Given the description of an element on the screen output the (x, y) to click on. 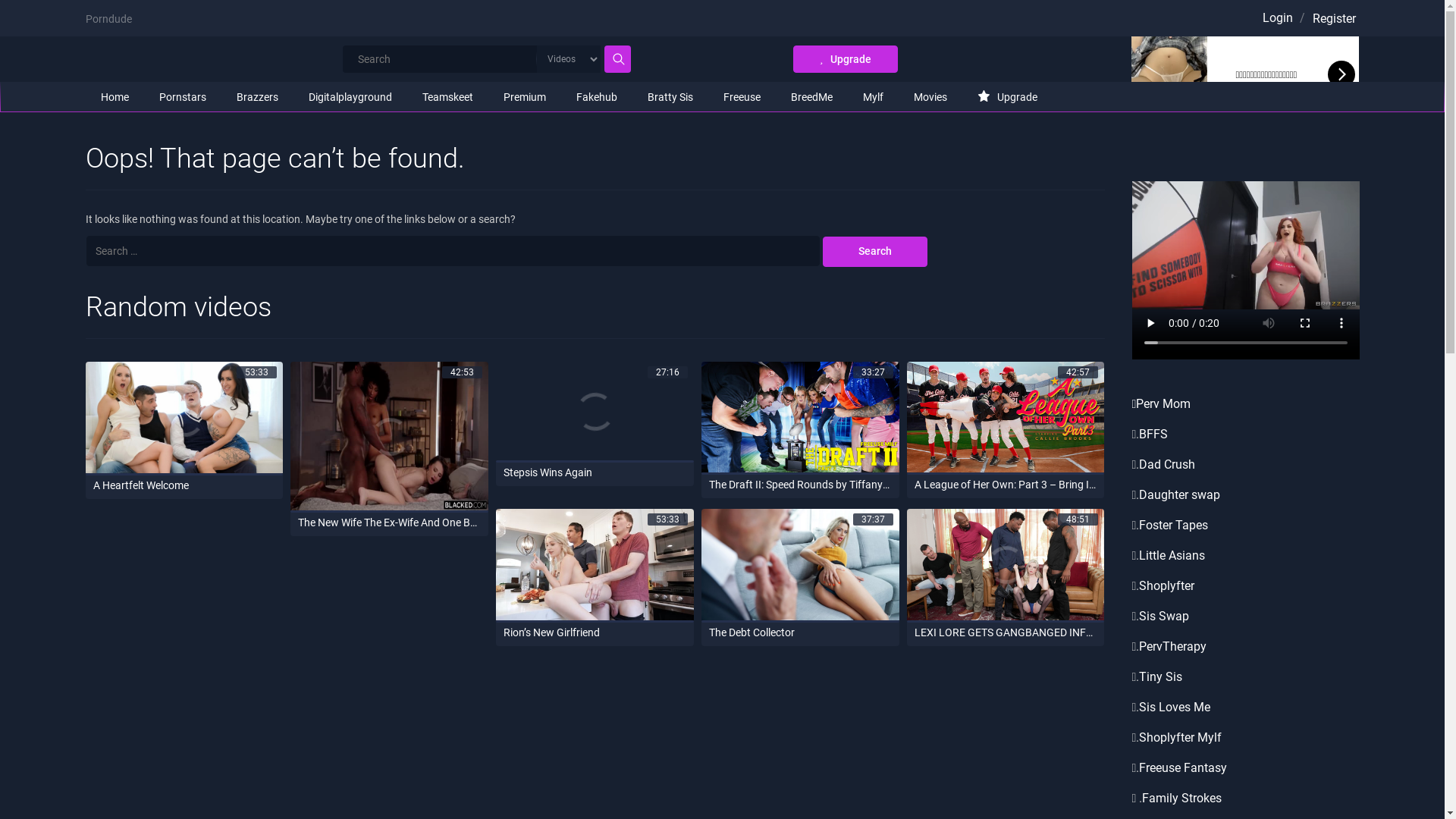
37:37 Element type: text (800, 565)
PervTherapy Element type: text (1172, 646)
Login Element type: text (1276, 18)
Pornstars Element type: text (182, 96)
Brazzers Element type: text (257, 96)
27:16 Element type: text (594, 411)
Tiny Sis Element type: text (1160, 676)
Freeuse Element type: text (741, 96)
Premium Element type: text (524, 96)
Family Strokes Element type: text (1181, 797)
33:27 Element type: text (800, 418)
Digitalplayground Element type: text (349, 96)
Foster Tapes Element type: text (1173, 524)
Perv Mom  Element type: text (1164, 403)
Sis Loves Me Element type: text (1174, 706)
Search Element type: text (874, 251)
48:51 Element type: text (1005, 565)
Mylf Element type: text (872, 96)
53:33 Element type: text (594, 565)
Upgrade Element type: text (845, 58)
Freeuse Fantasy Element type: text (1182, 767)
Shoplyfter Mylf Element type: text (1180, 737)
Upgrade Element type: text (1006, 96)
BFFS Element type: text (1153, 433)
42:53 Element type: text (389, 436)
Bratty Sis Element type: text (670, 96)
Daughter swap Element type: text (1179, 494)
Movies Element type: text (929, 96)
Fakehub Element type: text (596, 96)
Teamskeet Element type: text (446, 96)
53:33 Element type: text (183, 418)
42:57 Element type: text (1005, 418)
BreedMe Element type: text (811, 96)
Shoplyfter Element type: text (1166, 585)
Dad Crush Element type: text (1167, 464)
Home Element type: text (113, 96)
Porndude Element type: text (107, 18)
Sis Swap Element type: text (1164, 615)
Register Element type: text (1333, 18)
Little Asians Element type: text (1171, 555)
